Given the description of an element on the screen output the (x, y) to click on. 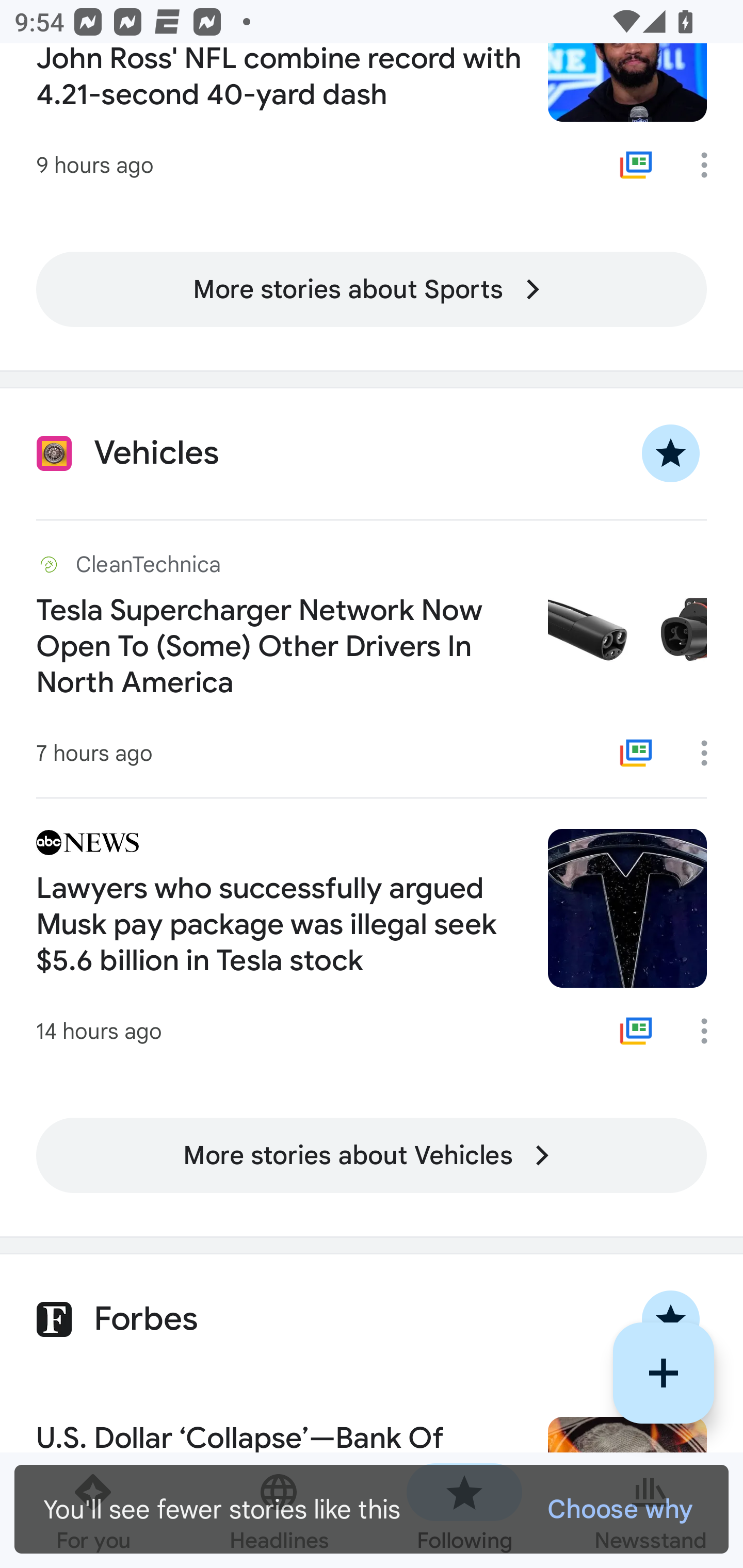
More options (711, 165)
More stories about Sports (371, 289)
Vehicles Vehicles Unfollow (371, 453)
Unfollow (670, 453)
More options (711, 753)
More options (711, 1030)
More stories about Vehicles (371, 1155)
Forbes Forbes Unfollow (371, 1319)
Follow (663, 1372)
Choose why (619, 1509)
